Given the description of an element on the screen output the (x, y) to click on. 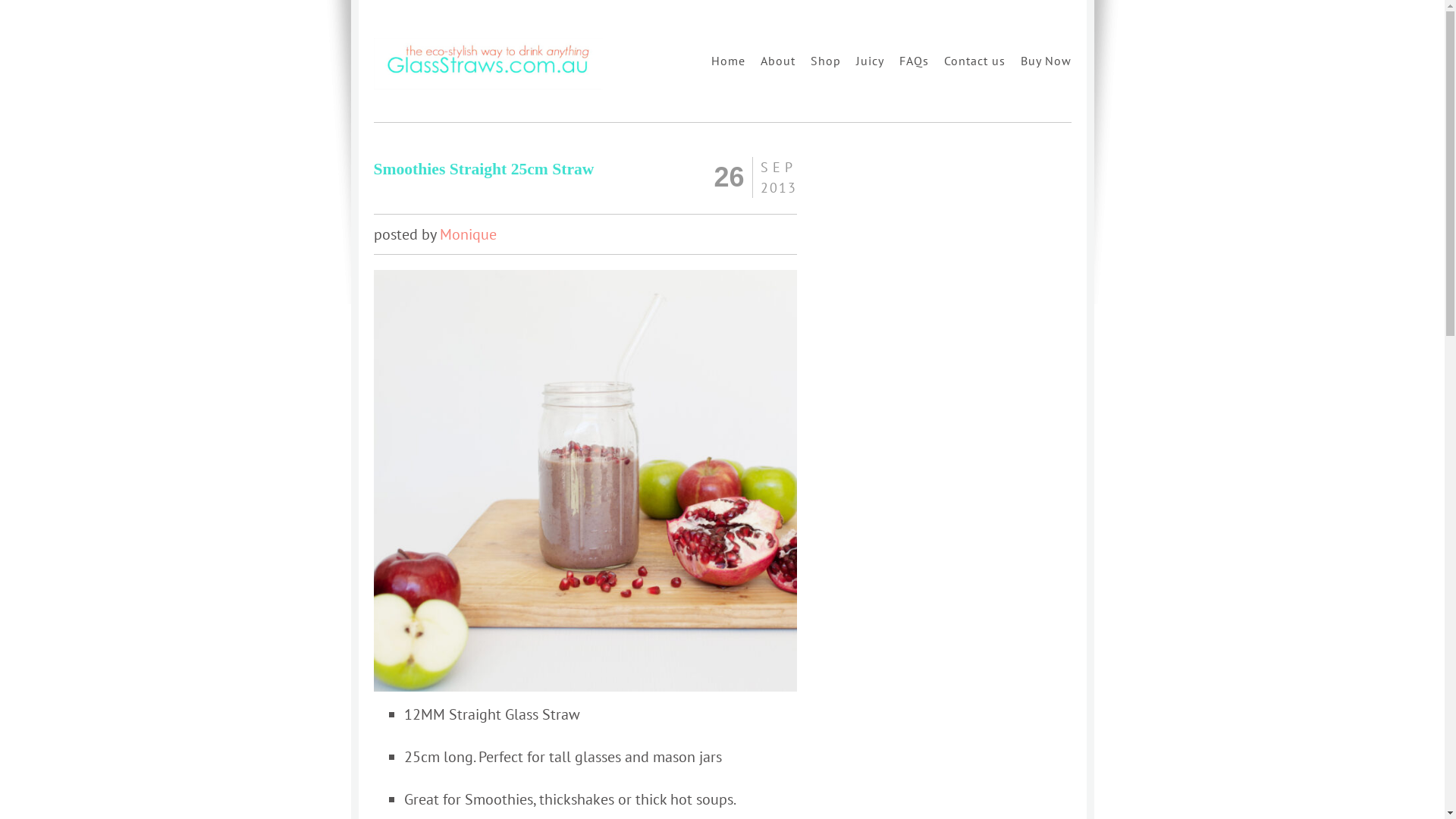
Monique Element type: text (467, 234)
Shop Element type: text (824, 60)
GlassStraws.com.au Element type: hover (487, 85)
FAQs Element type: text (913, 60)
About Element type: text (776, 60)
Home Element type: text (728, 60)
Buy Now Element type: text (1045, 60)
Contact us Element type: text (973, 60)
Juicy Element type: text (869, 60)
